Given the description of an element on the screen output the (x, y) to click on. 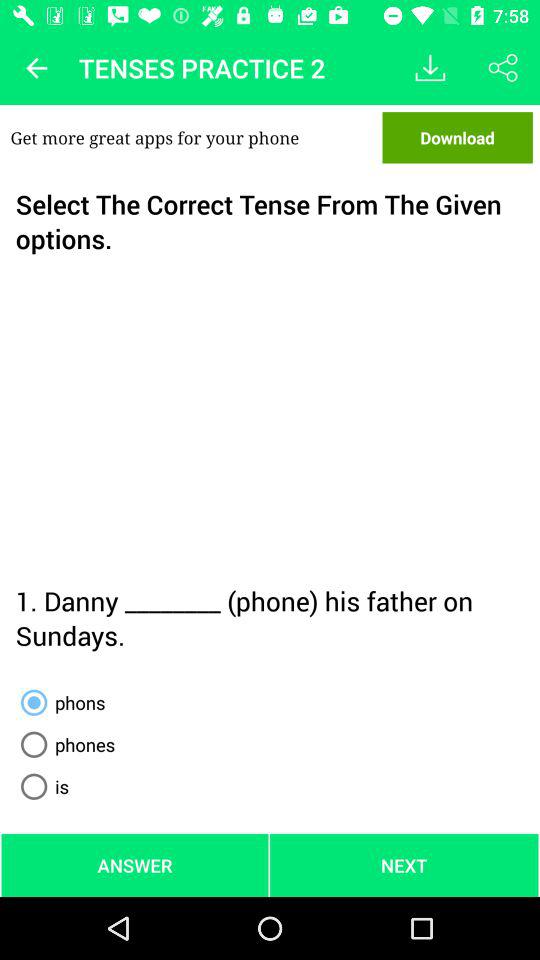
launch the is item (41, 786)
